Given the description of an element on the screen output the (x, y) to click on. 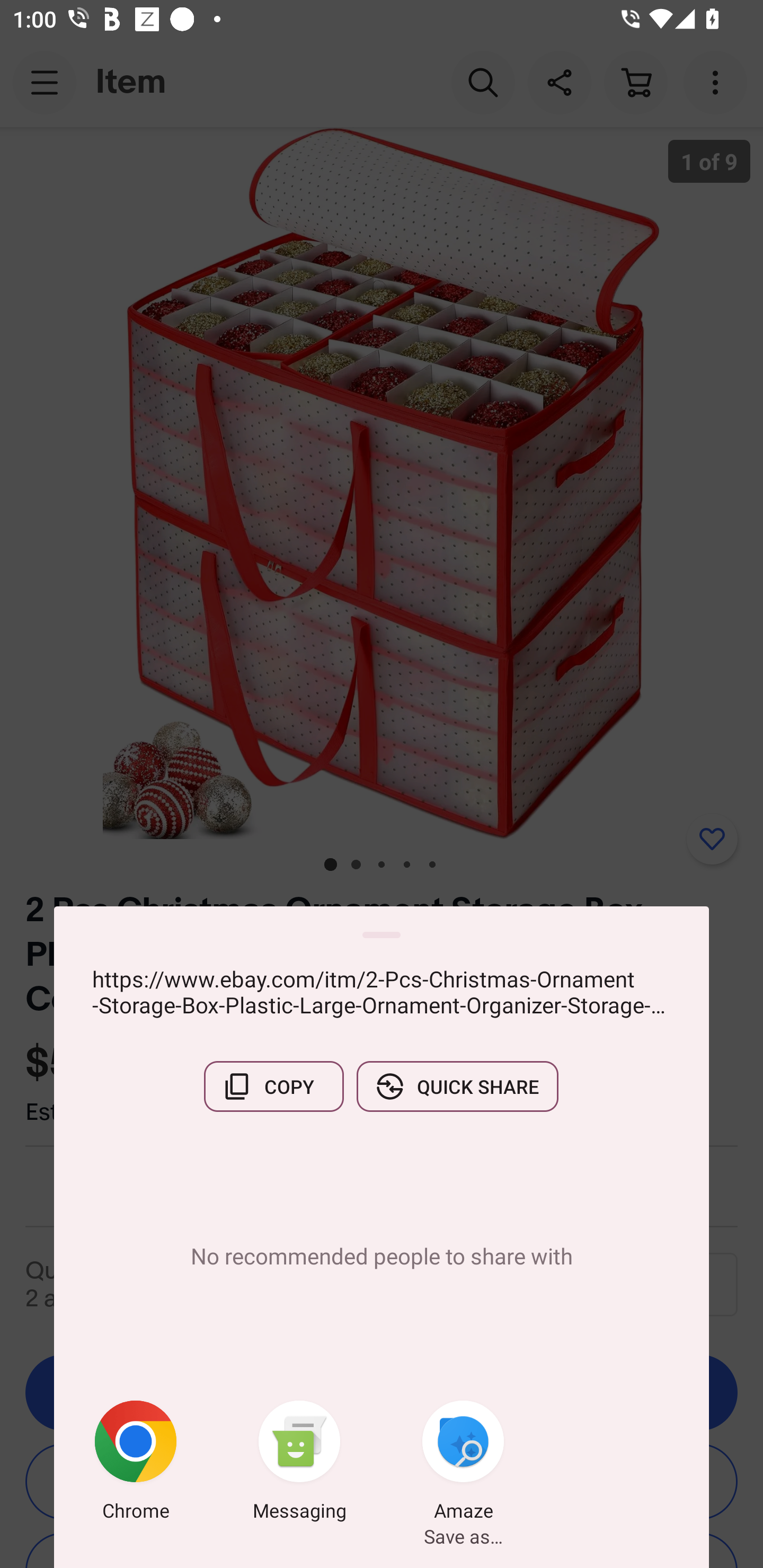
COPY (273, 1086)
QUICK SHARE (457, 1086)
Chrome (135, 1463)
Messaging (299, 1463)
Amaze Save as… (463, 1463)
